Given the description of an element on the screen output the (x, y) to click on. 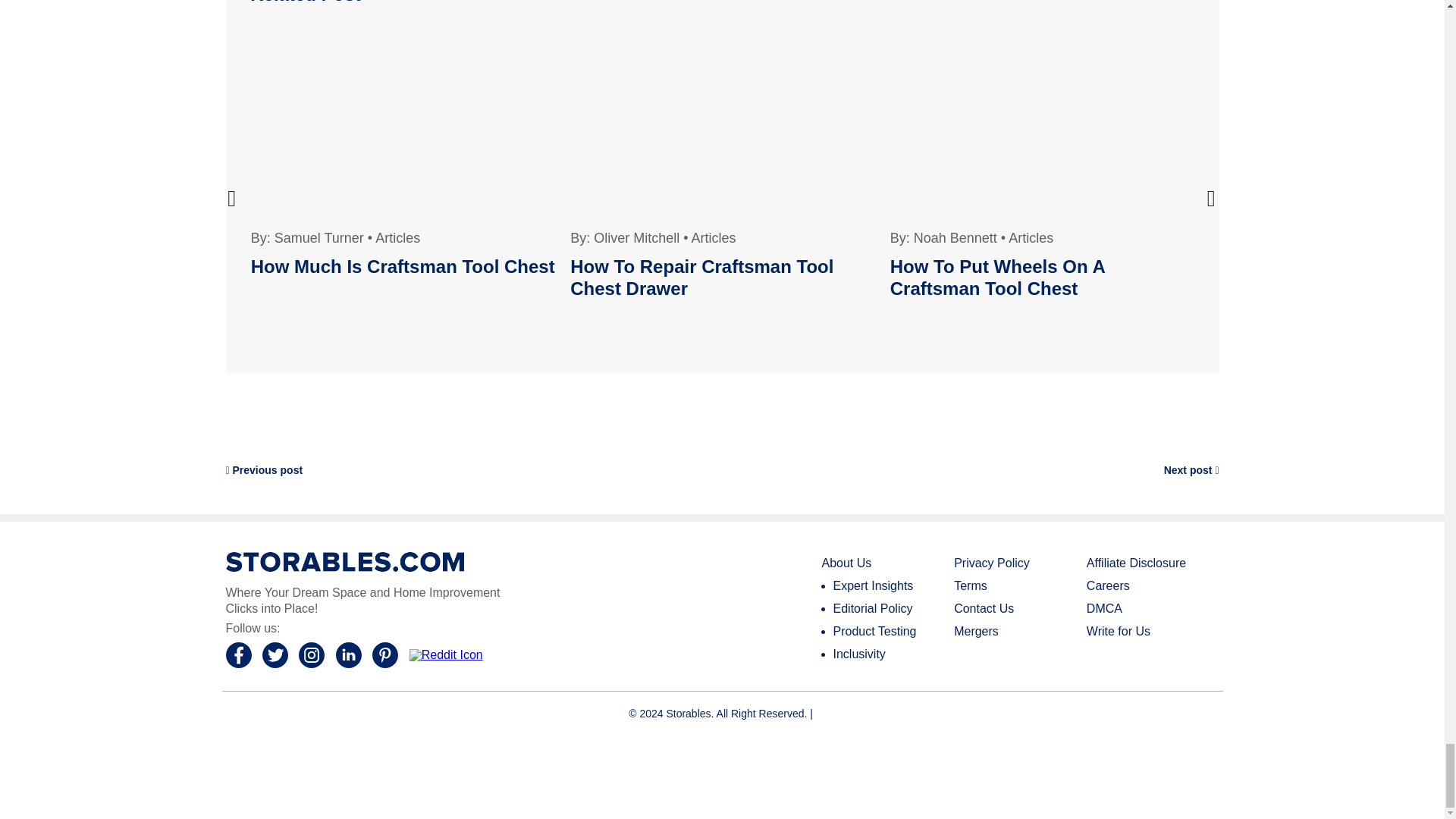
storables (344, 561)
